Given the description of an element on the screen output the (x, y) to click on. 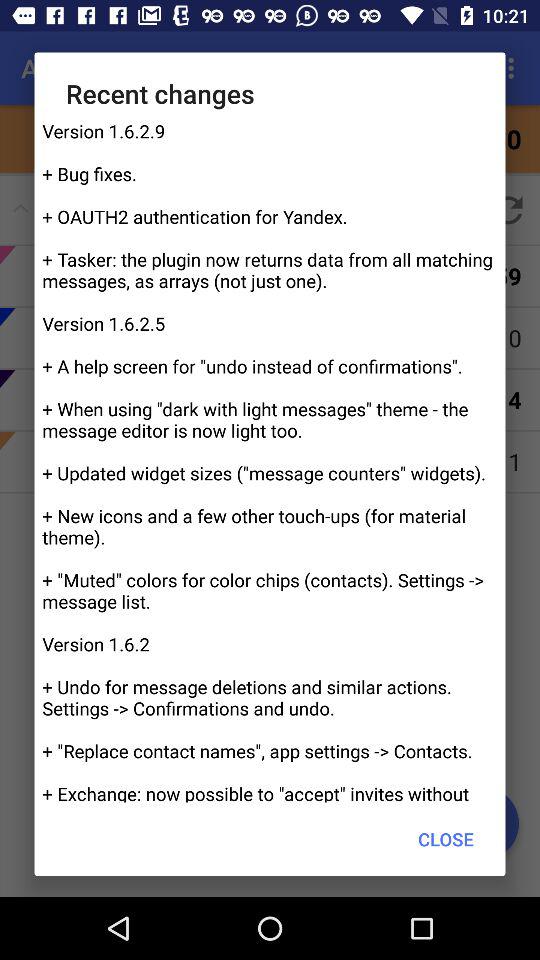
scroll until close item (445, 838)
